Given the description of an element on the screen output the (x, y) to click on. 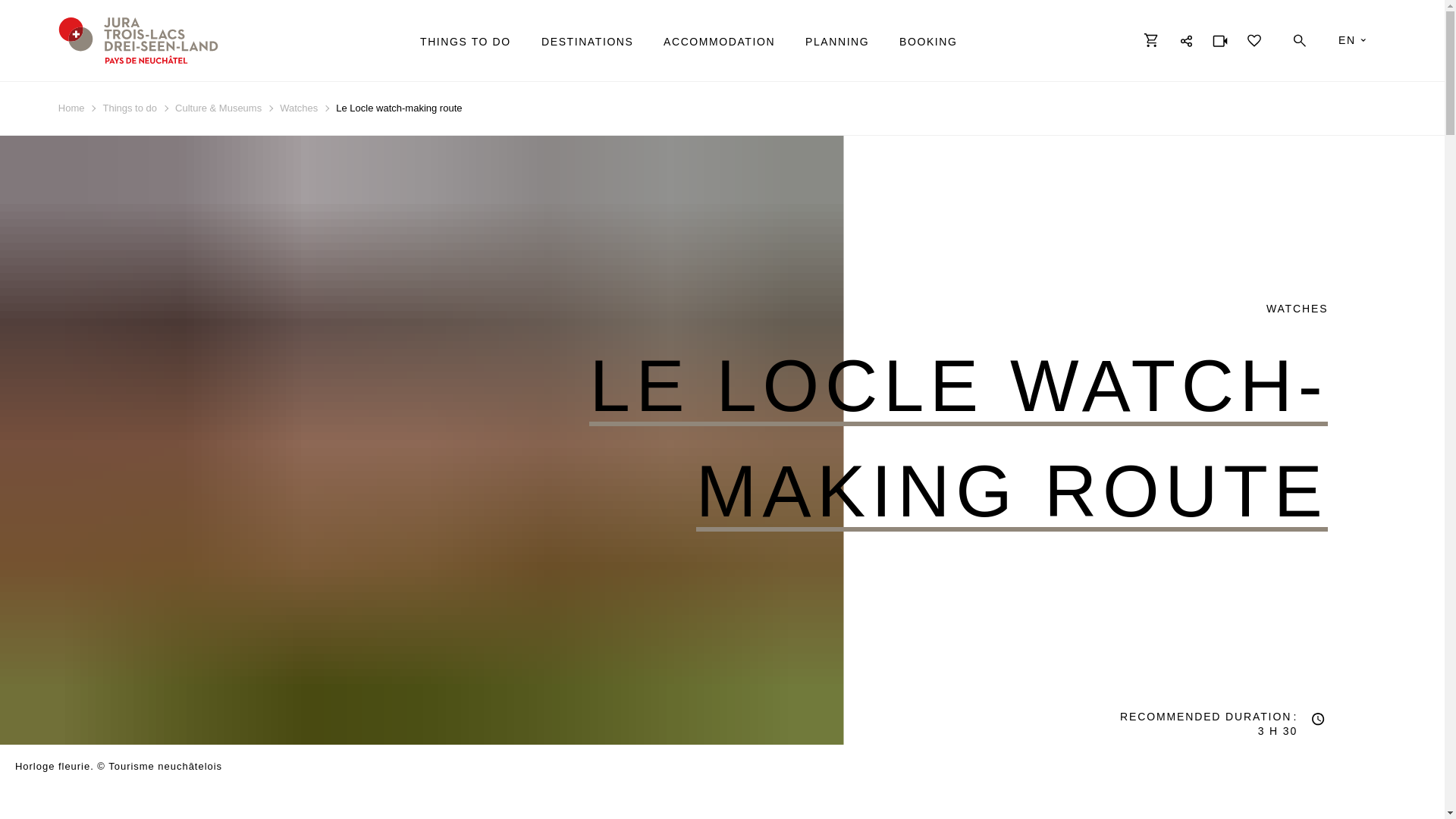
THINGS TO DO (465, 42)
